Given the description of an element on the screen output the (x, y) to click on. 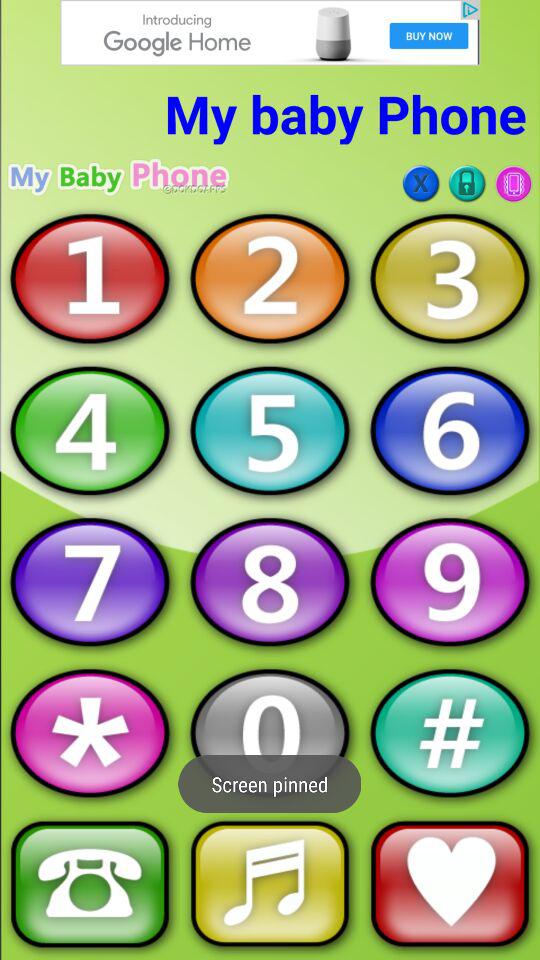
select vibration (513, 183)
